Given the description of an element on the screen output the (x, y) to click on. 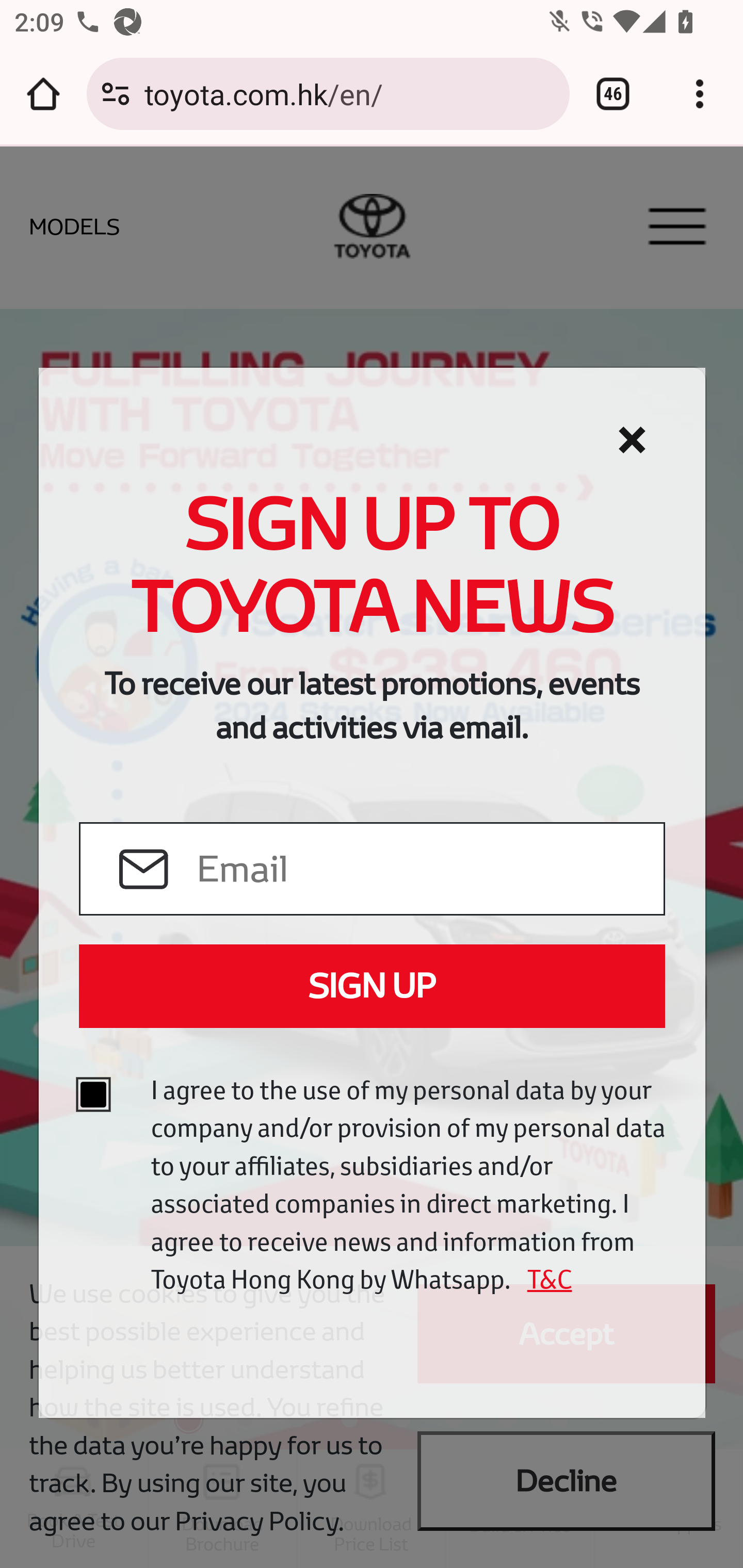
Open the home page (43, 93)
Connection is secure (115, 93)
Switch or close tabs (612, 93)
Customize and control Google Chrome (699, 93)
toyota.com.hk/en/ (349, 92)
Cerrar (631, 440)
SIGN UP (371, 985)
T&C (543, 1279)
